Given the description of an element on the screen output the (x, y) to click on. 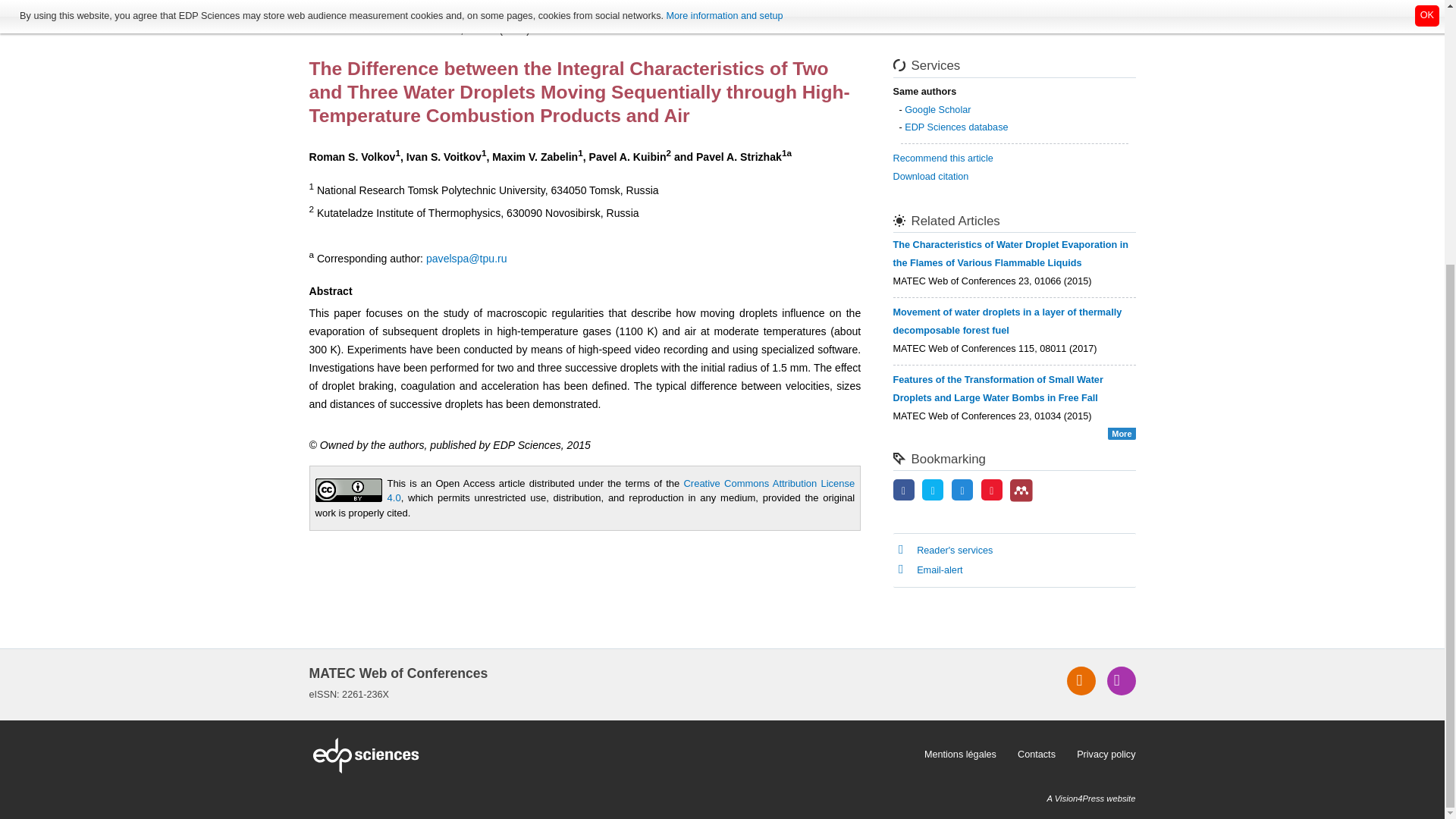
Mendeley (1021, 490)
